Given the description of an element on the screen output the (x, y) to click on. 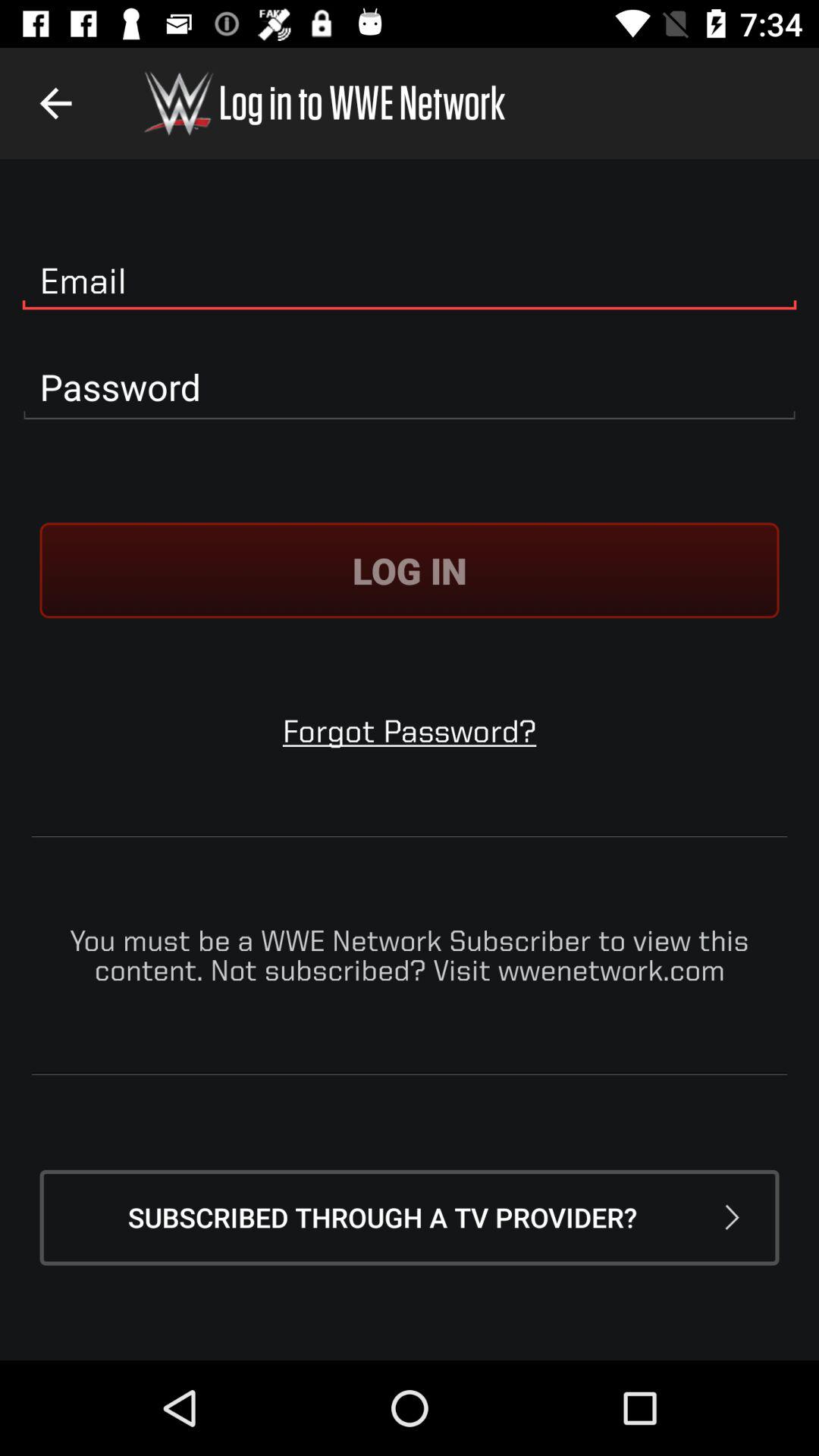
enter password (409, 387)
